Given the description of an element on the screen output the (x, y) to click on. 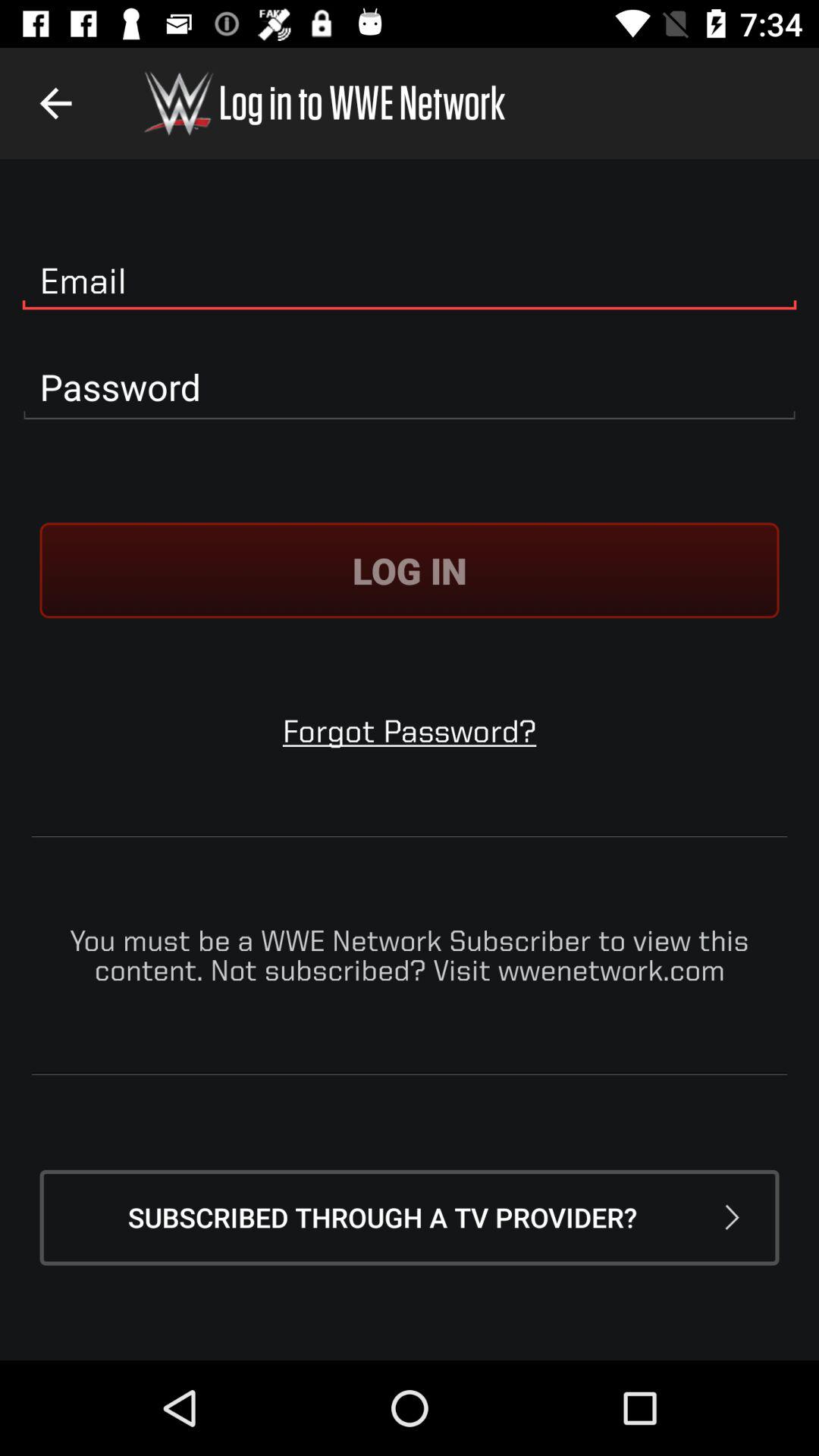
enter password (409, 387)
